Given the description of an element on the screen output the (x, y) to click on. 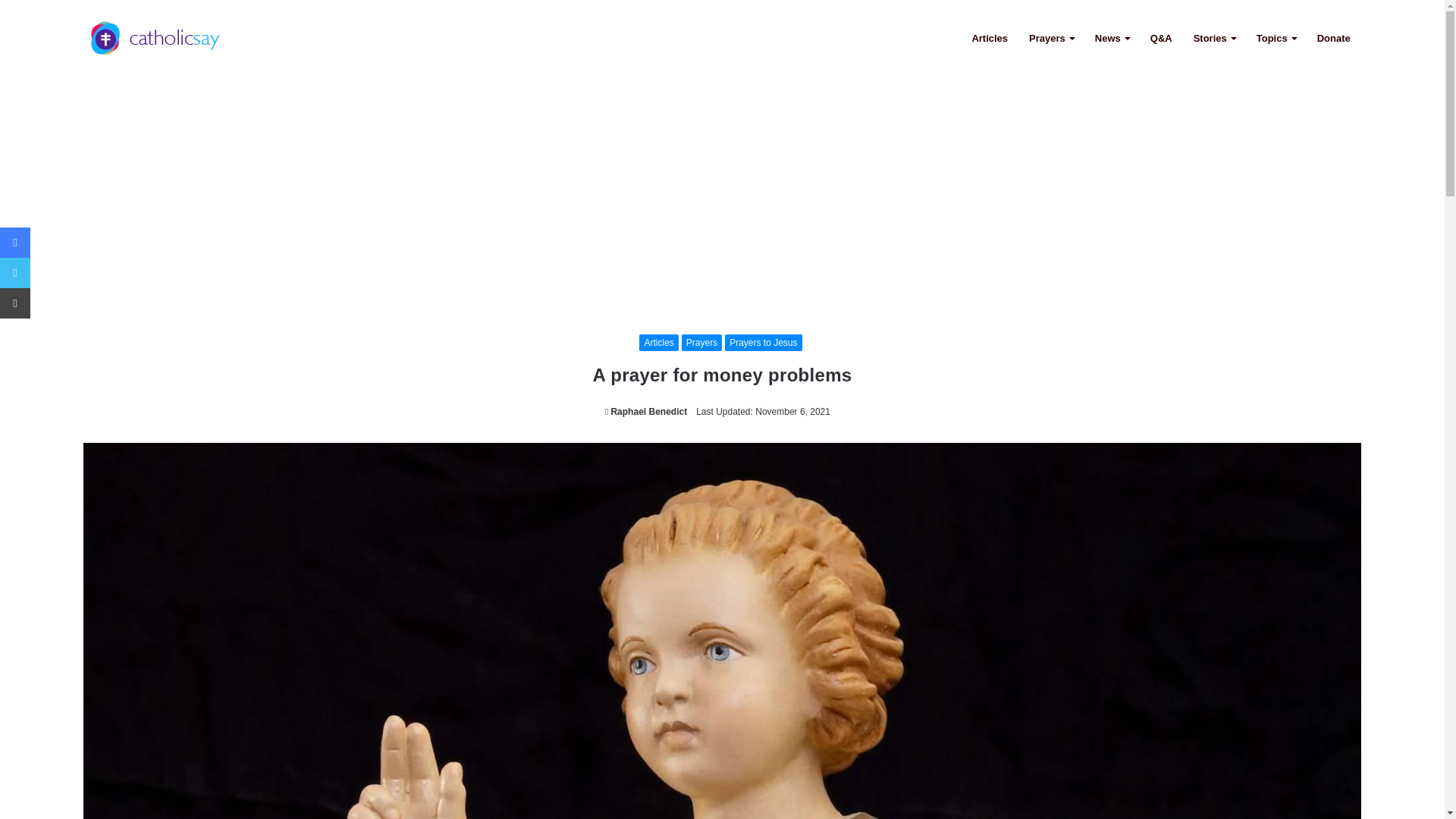
Raphael Benedict (646, 411)
Twitter (15, 272)
Prayers (701, 342)
Catholic Say (154, 38)
Print (15, 303)
Raphael Benedict (646, 411)
Facebook (15, 242)
Prayers to Jesus (763, 342)
Articles (658, 342)
